Given the description of an element on the screen output the (x, y) to click on. 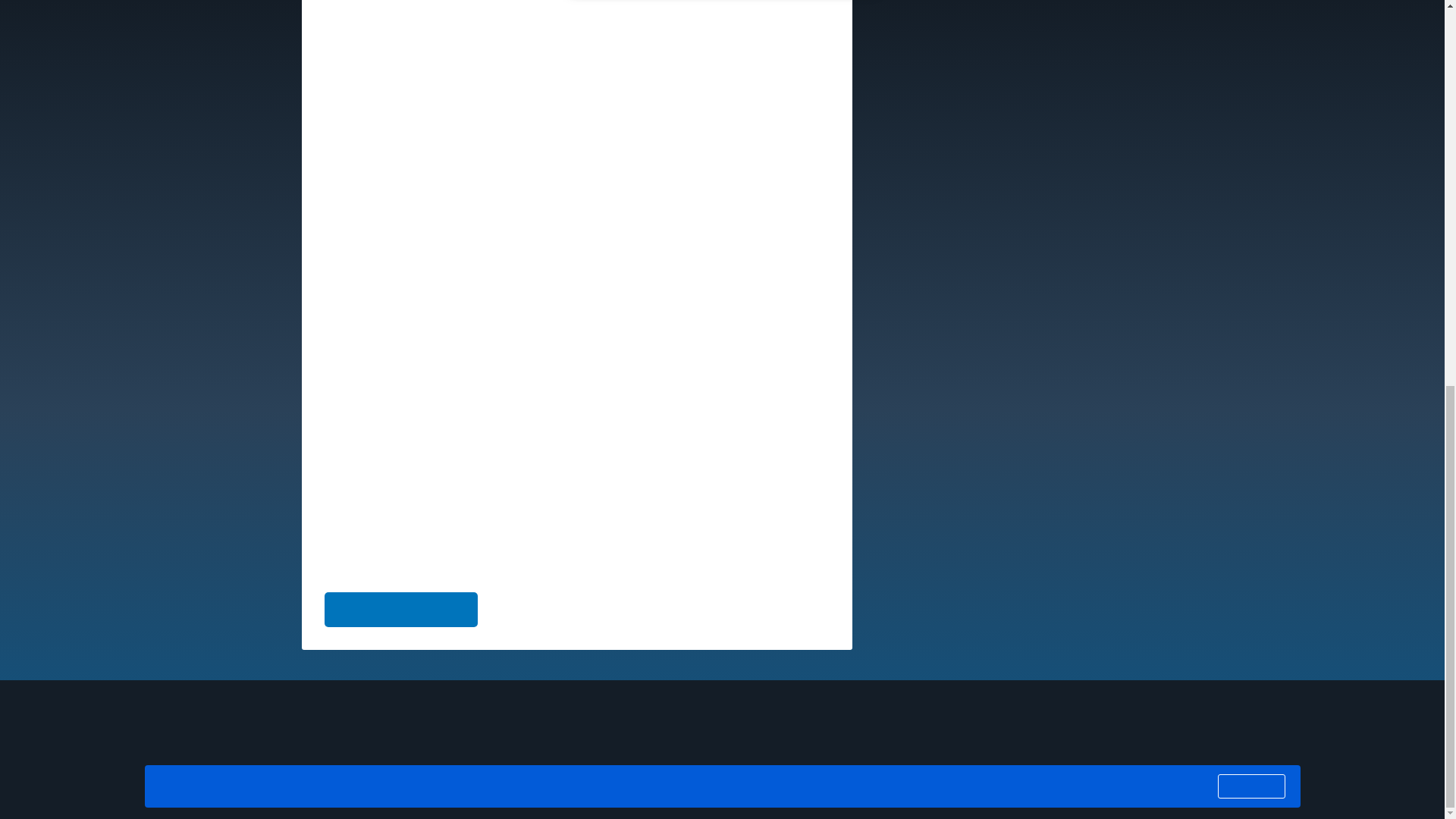
Cookies Policy (646, 58)
BLOG (311, 736)
TERMS (368, 736)
SEARCH (500, 736)
FOR PUBLISHERS (509, 717)
FOR CREATORS (398, 717)
Understood (1250, 58)
PRIVACY (431, 736)
VISIT PRODUCT SITE (401, 609)
SUPPORT (569, 736)
